Given the description of an element on the screen output the (x, y) to click on. 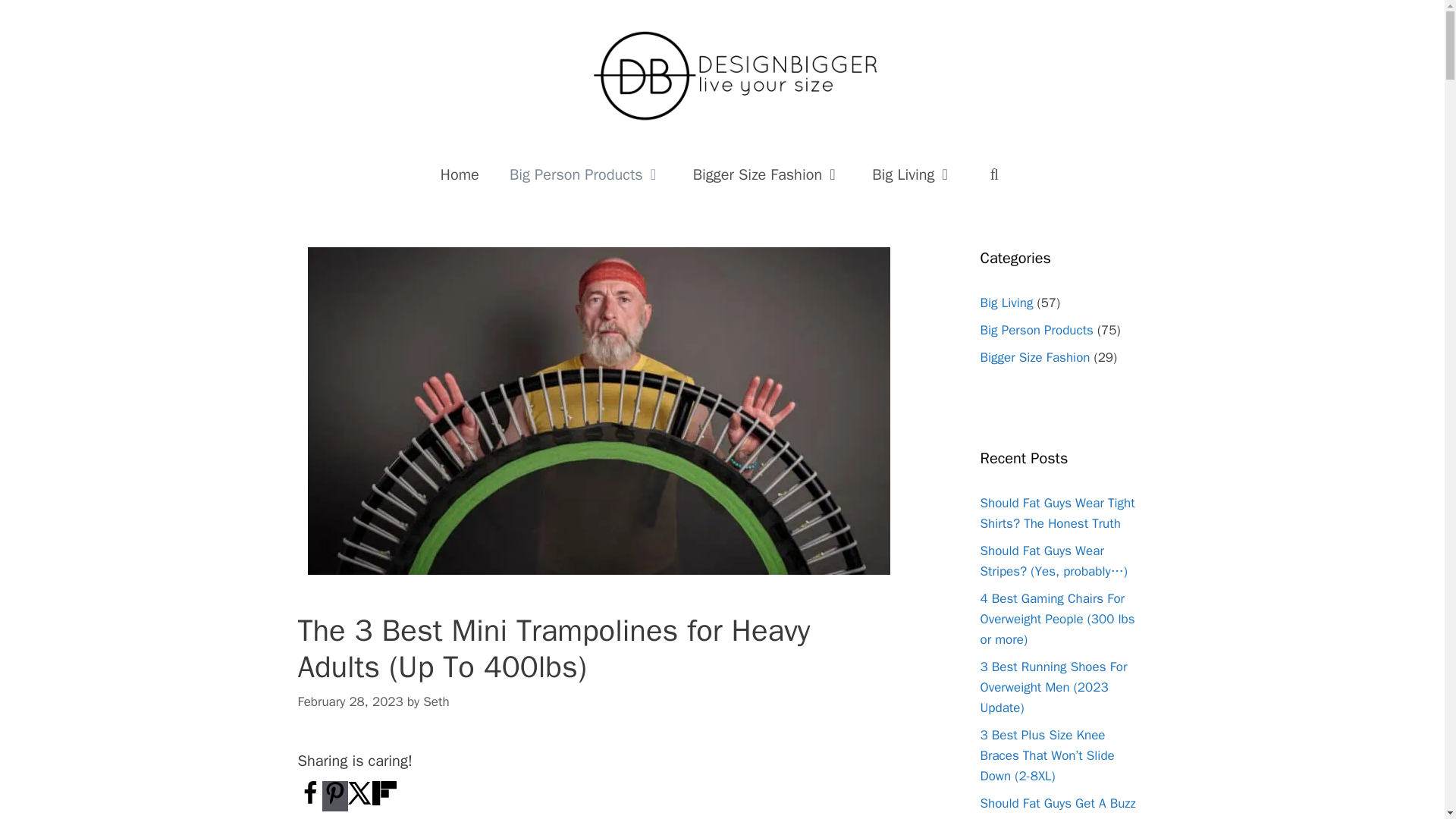
Save to Pinterest (334, 796)
Big Person Products (586, 175)
Share on X (359, 801)
View all posts by Seth (435, 701)
Share on Facebook (309, 801)
Bigger Size Fashion (767, 175)
Home (460, 175)
Share on Flipboard (383, 801)
Seth (435, 701)
Big Living (913, 175)
